Given the description of an element on the screen output the (x, y) to click on. 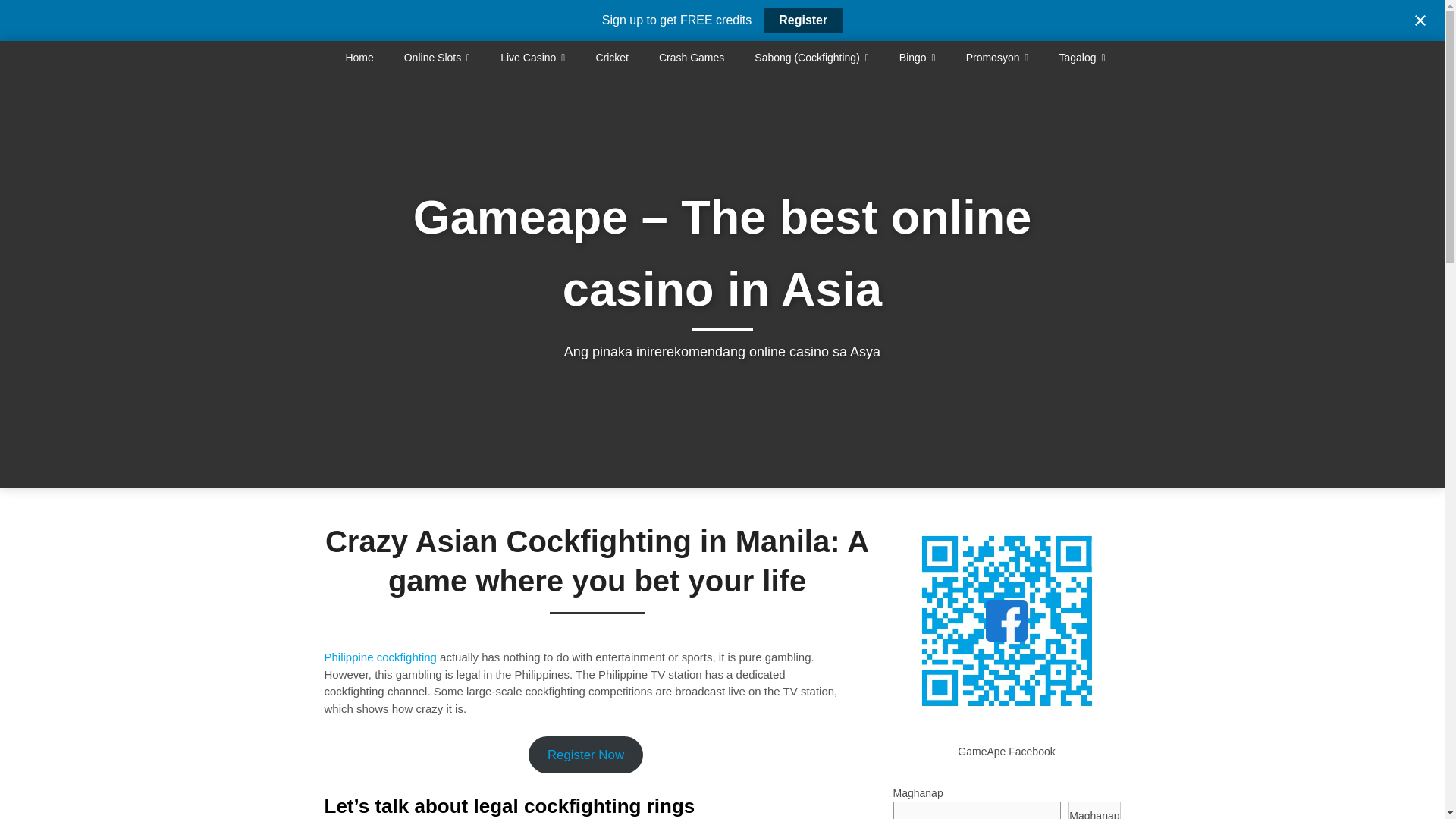
Cricket (611, 57)
Crash Games (691, 57)
Live Casino (531, 57)
Promosyon (996, 57)
Register (802, 20)
Bingo (916, 57)
Philippine cockfighting (380, 656)
Home (366, 57)
Maghanap (1093, 810)
Online Slots (436, 57)
